Given the description of an element on the screen output the (x, y) to click on. 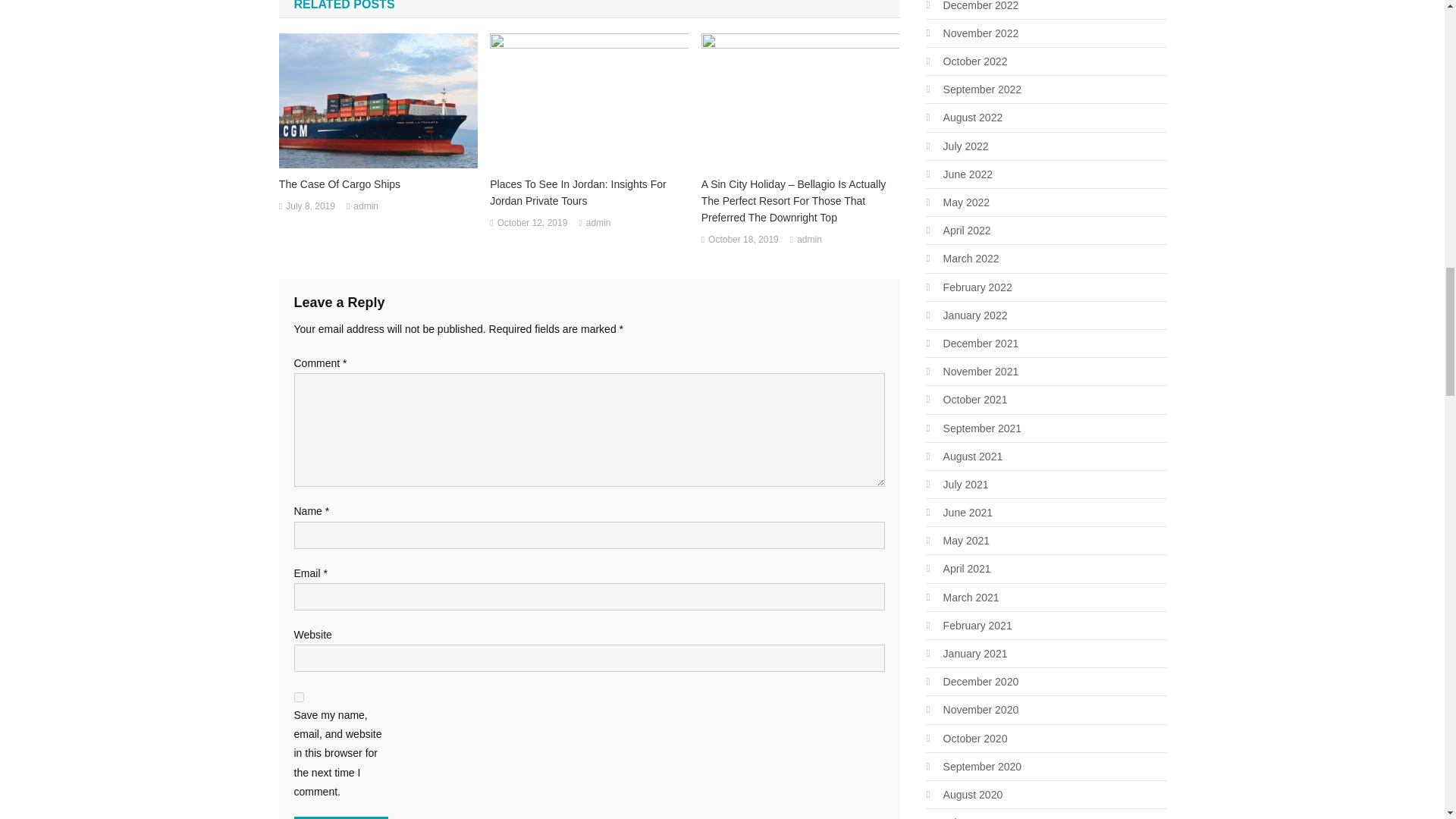
admin (598, 223)
Post Comment (341, 817)
The Case Of Cargo Ships (378, 184)
yes (299, 696)
admin (809, 239)
Places To See In Jordan: Insights For Jordan Private Tours (588, 192)
Post Comment (341, 817)
admin (365, 207)
July 8, 2019 (309, 207)
October 18, 2019 (742, 239)
October 12, 2019 (532, 223)
